Given the description of an element on the screen output the (x, y) to click on. 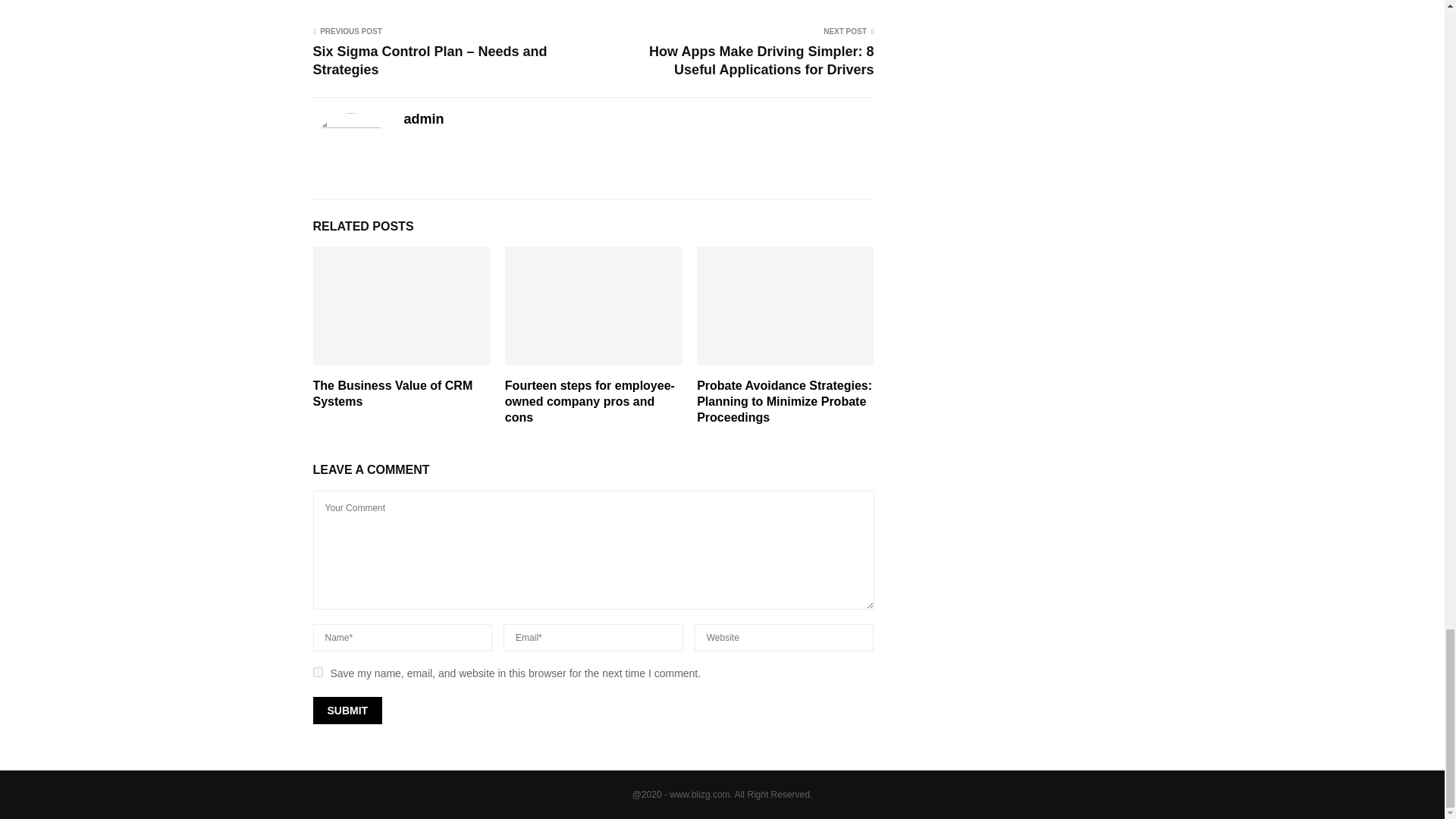
yes (317, 672)
Submit (347, 709)
